Given the description of an element on the screen output the (x, y) to click on. 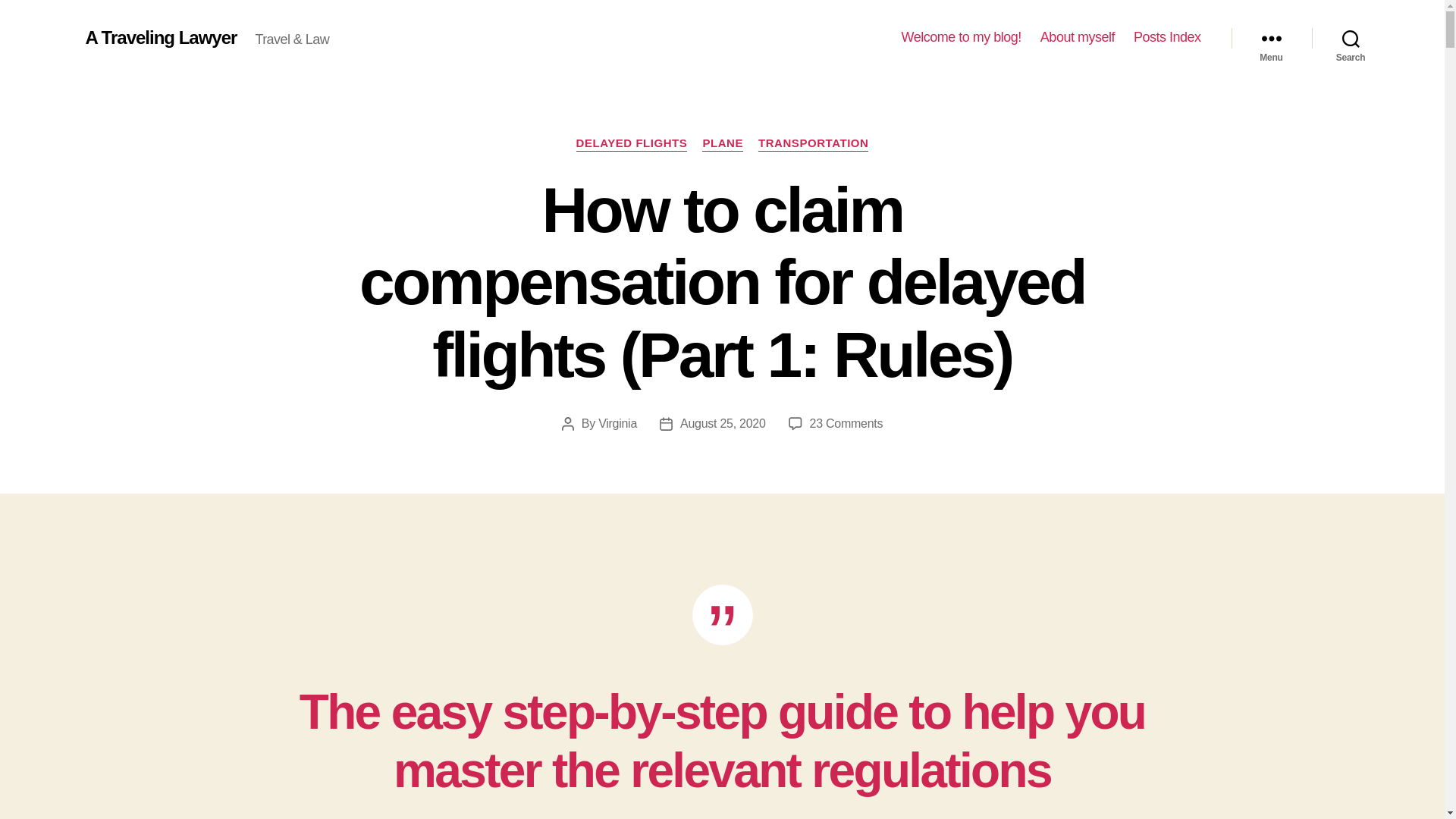
Welcome to my blog! (961, 37)
About myself (1078, 37)
August 25, 2020 (722, 422)
PLANE (721, 143)
TRANSPORTATION (812, 143)
Virginia (617, 422)
A Traveling Lawyer (159, 37)
Search (1350, 37)
DELAYED FLIGHTS (631, 143)
Posts Index (1167, 37)
Menu (1271, 37)
